Given the description of an element on the screen output the (x, y) to click on. 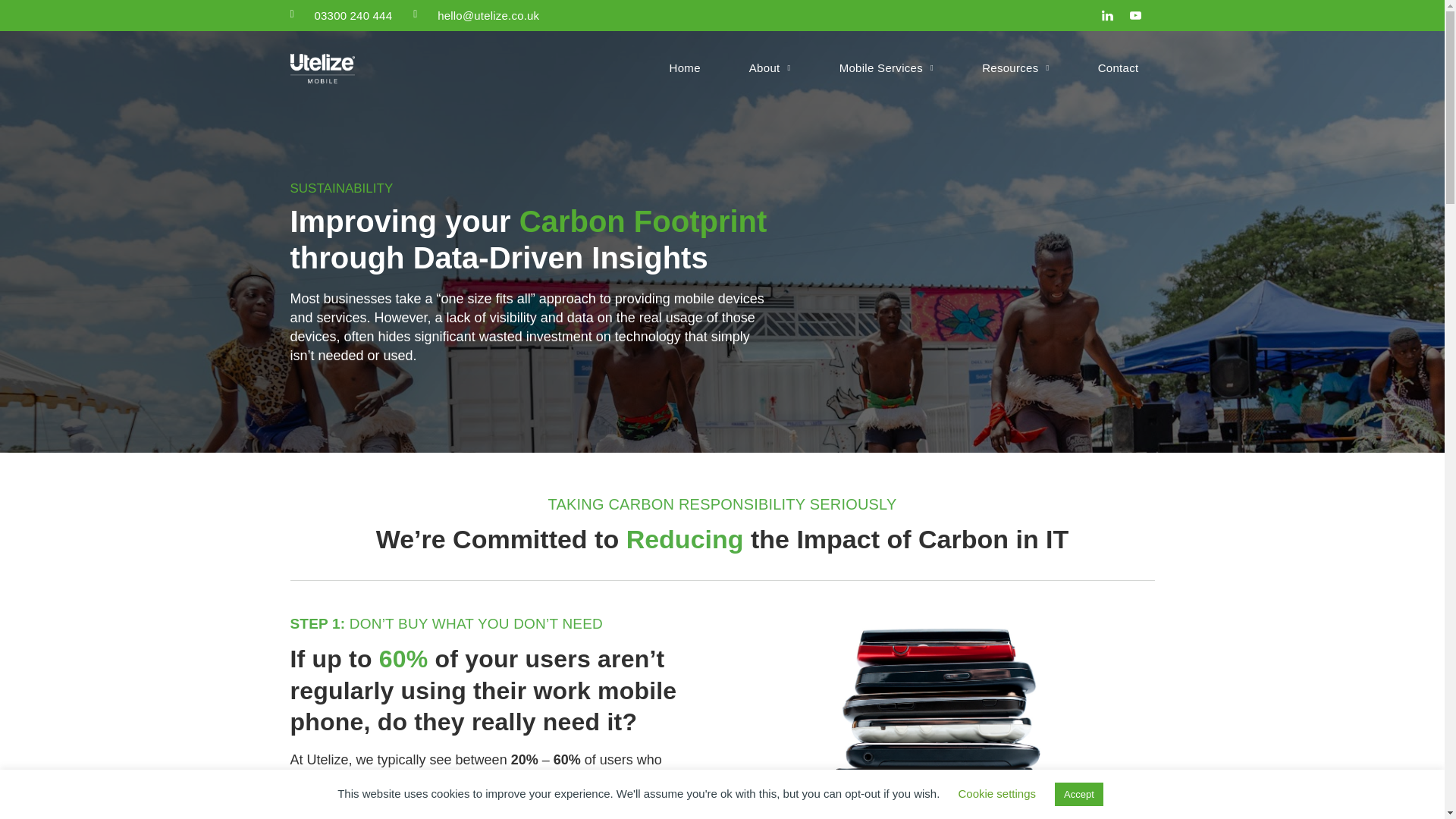
Resources (1015, 67)
Mobile Services (887, 67)
03300 240 444 (352, 15)
Contact (1117, 67)
Home (684, 67)
About (769, 67)
